Given the description of an element on the screen output the (x, y) to click on. 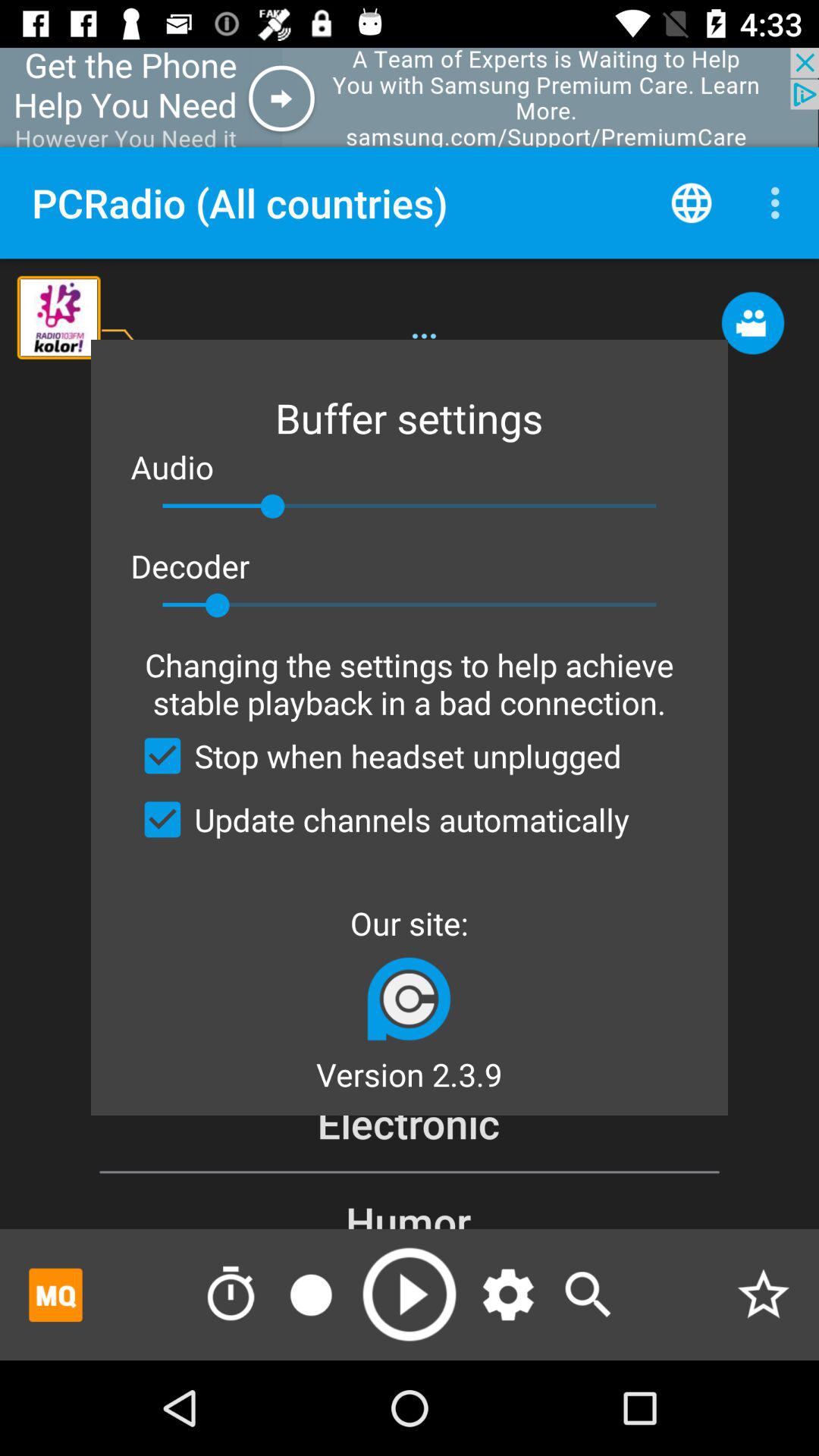
turn on the icon above update channels automatically checkbox (375, 755)
